Given the description of an element on the screen output the (x, y) to click on. 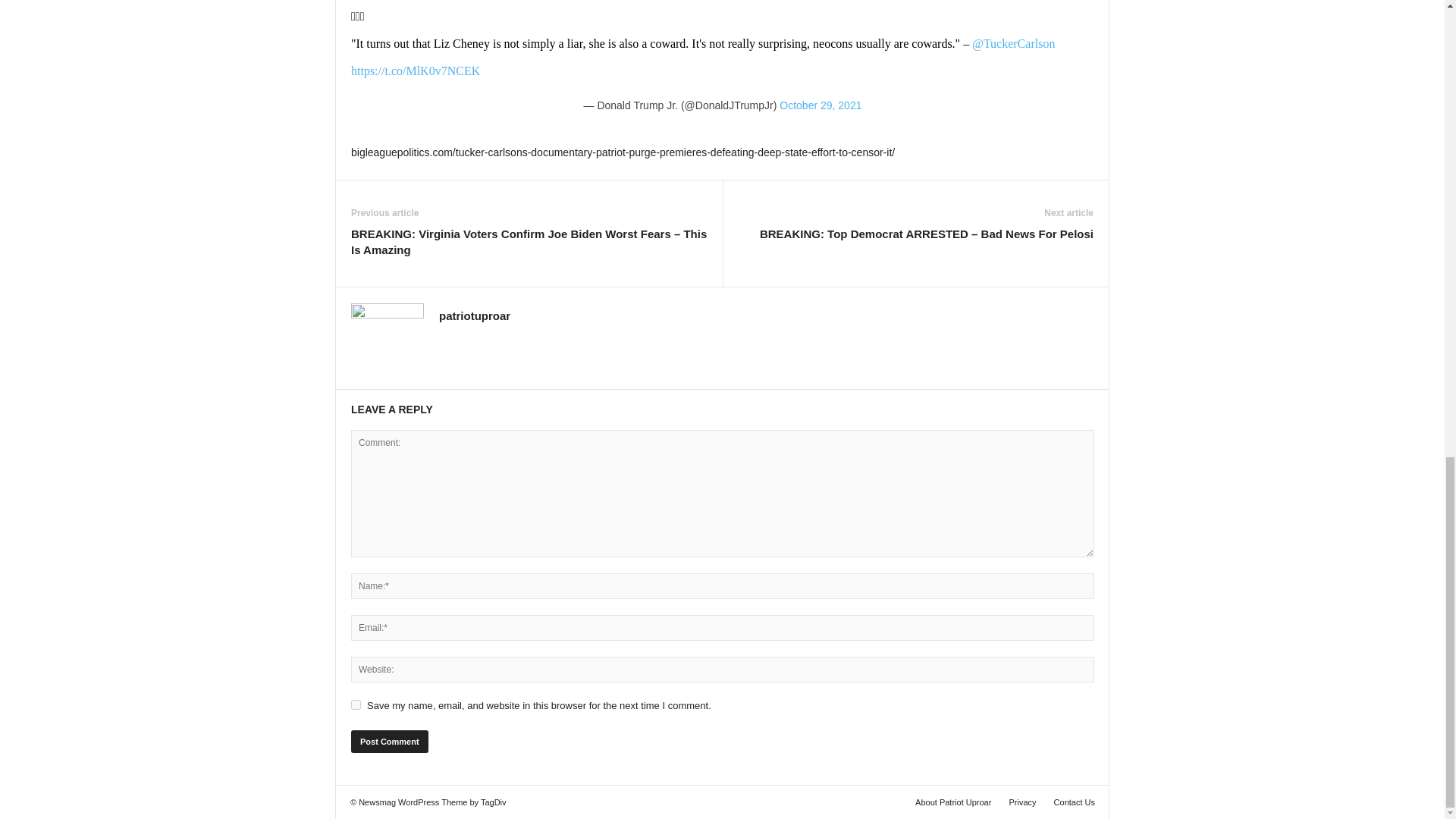
Privacy (1022, 801)
October 29, 2021 (819, 105)
yes (355, 705)
About Patriot Uproar (952, 801)
Post Comment (389, 741)
Post Comment (389, 741)
Contact Us (1070, 801)
patriotuproar (475, 315)
